Given the description of an element on the screen output the (x, y) to click on. 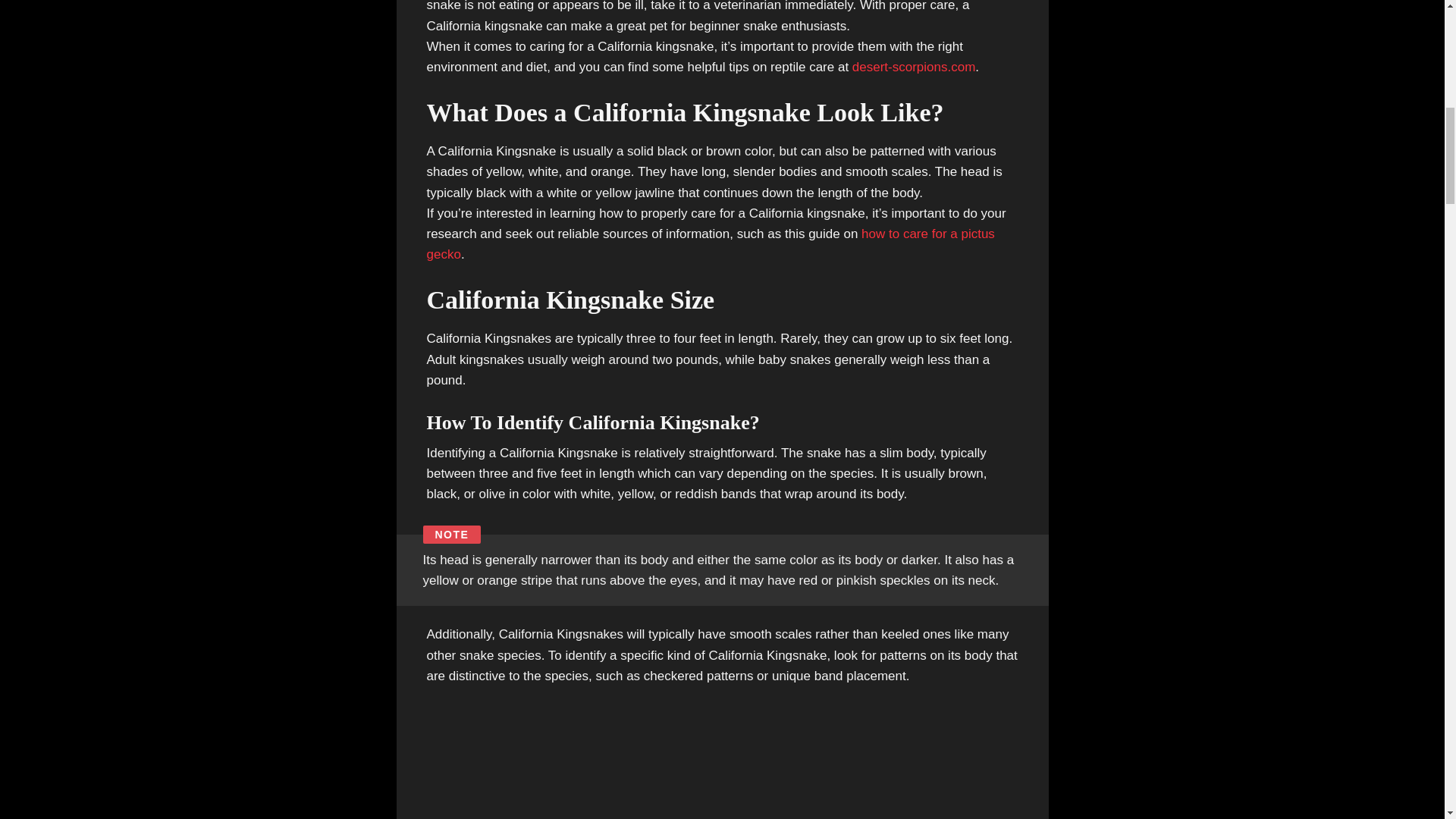
how to care for a pictus gecko (710, 243)
desert-scorpions.com (913, 66)
